Given the description of an element on the screen output the (x, y) to click on. 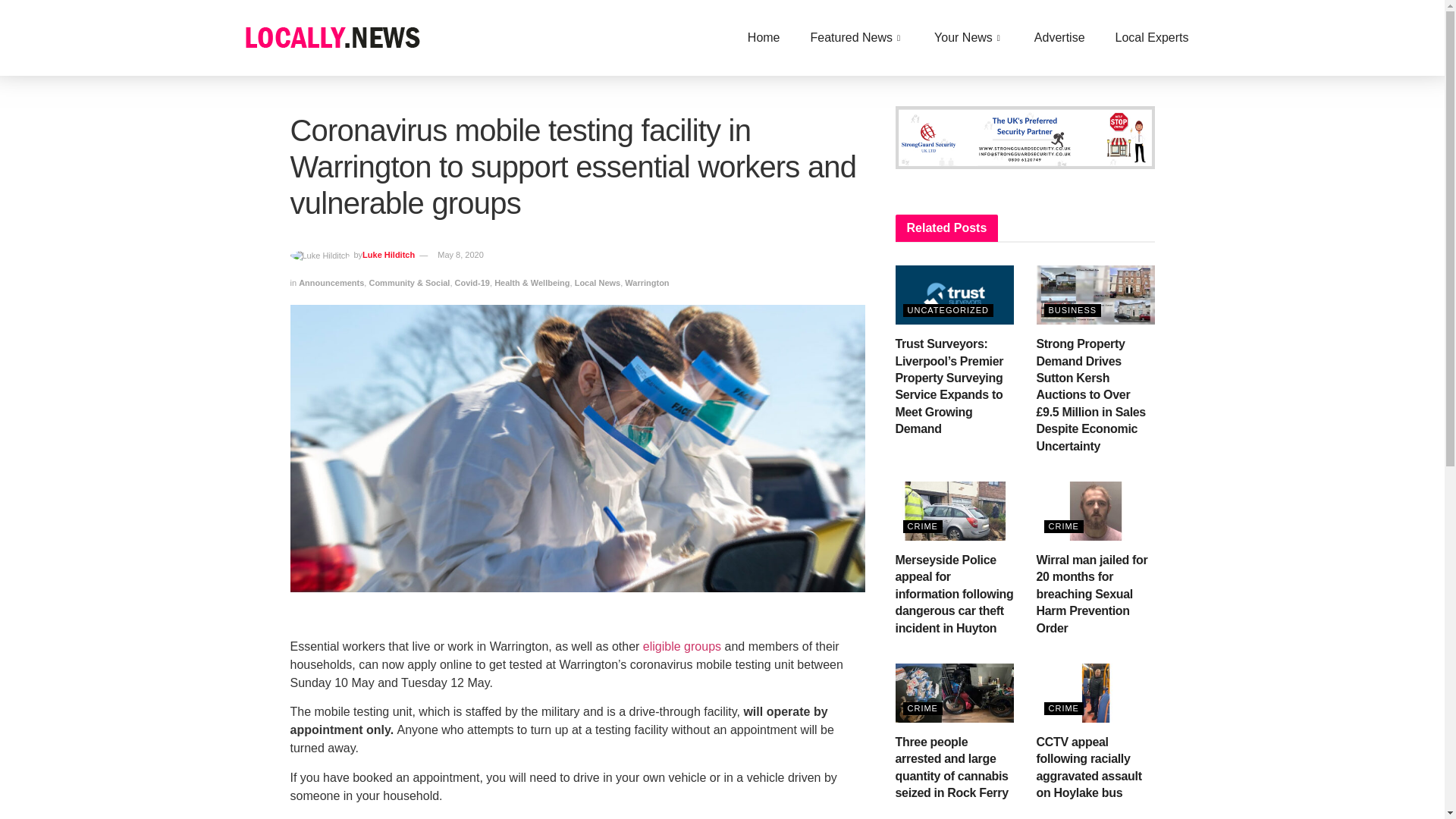
Advertise (1059, 37)
Home (763, 37)
Featured News (857, 37)
Your News (968, 37)
Local Experts (1152, 37)
